Given the description of an element on the screen output the (x, y) to click on. 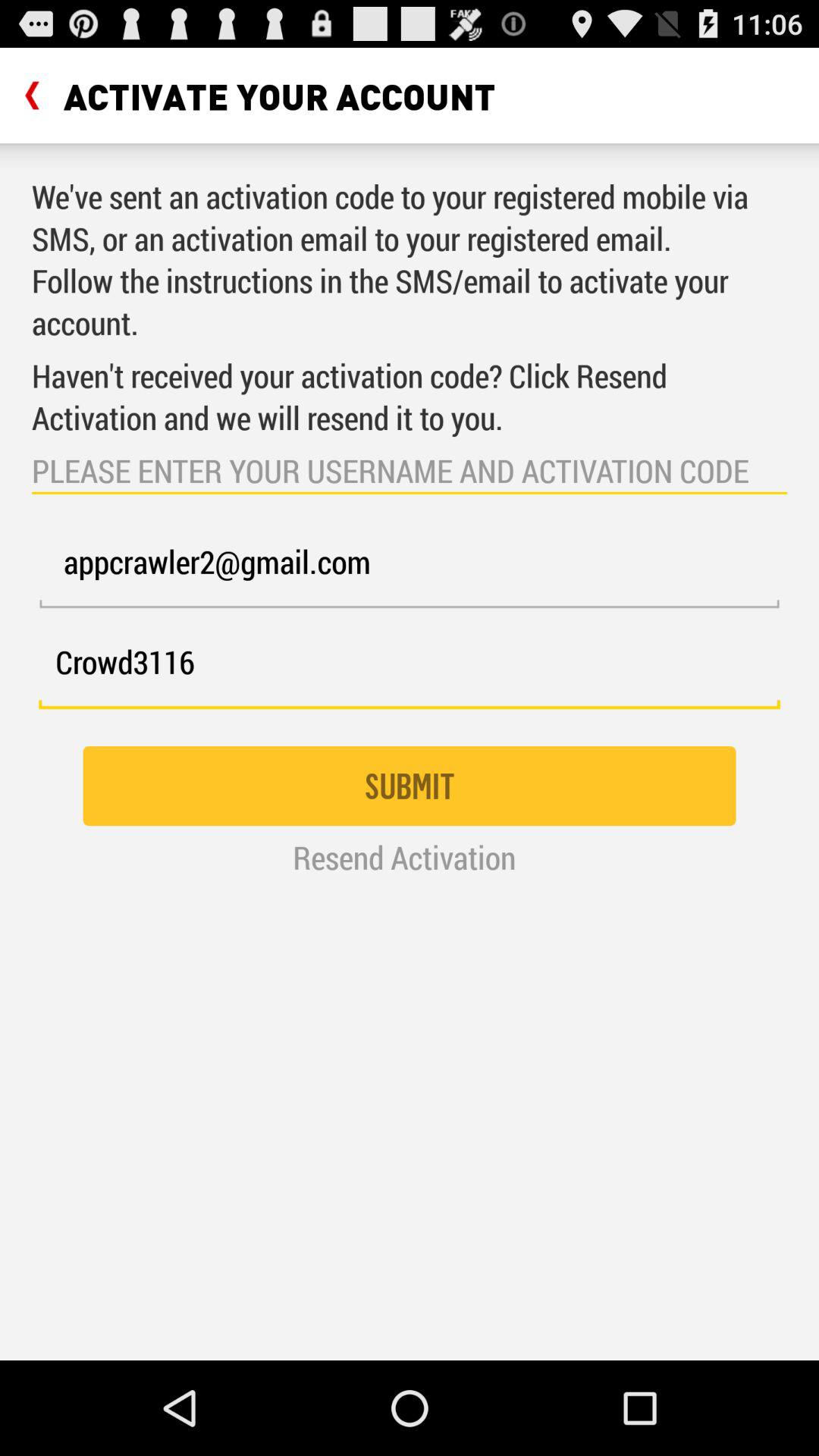
jump until the submit icon (409, 785)
